Given the description of an element on the screen output the (x, y) to click on. 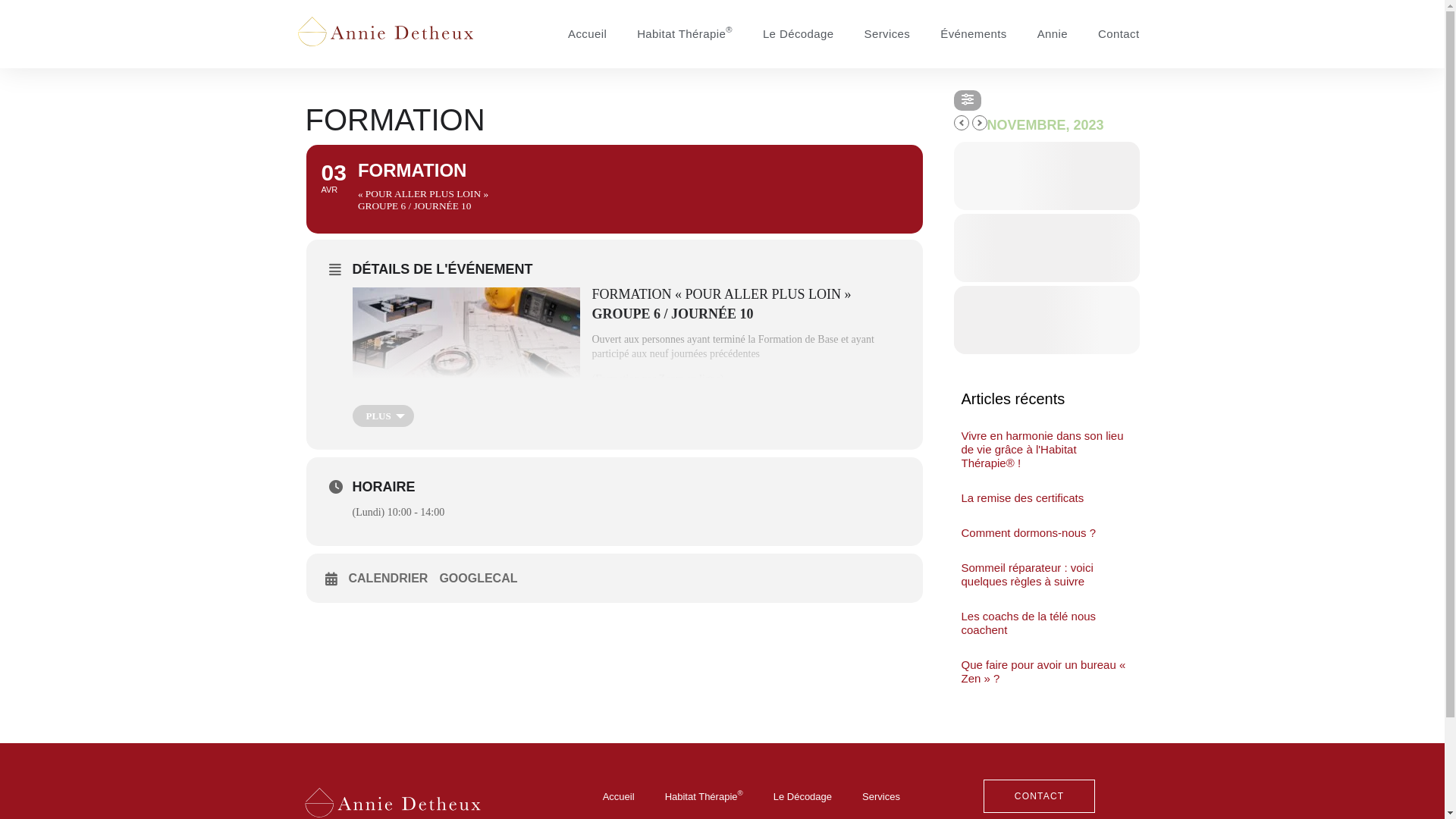
Comment dormons-nous ? Element type: text (1028, 532)
Services Element type: text (887, 34)
GOOGLECAL Element type: text (483, 578)
Services Element type: text (881, 796)
CONTACT Element type: text (1039, 795)
CALENDRIER Element type: text (393, 578)
Accueil Element type: text (586, 34)
Annie Element type: text (1052, 34)
Accueil Element type: text (618, 796)
Zoom Element type: text (670, 378)
Contact Element type: text (1118, 34)
La remise des certificats Element type: text (1022, 497)
